Given the description of an element on the screen output the (x, y) to click on. 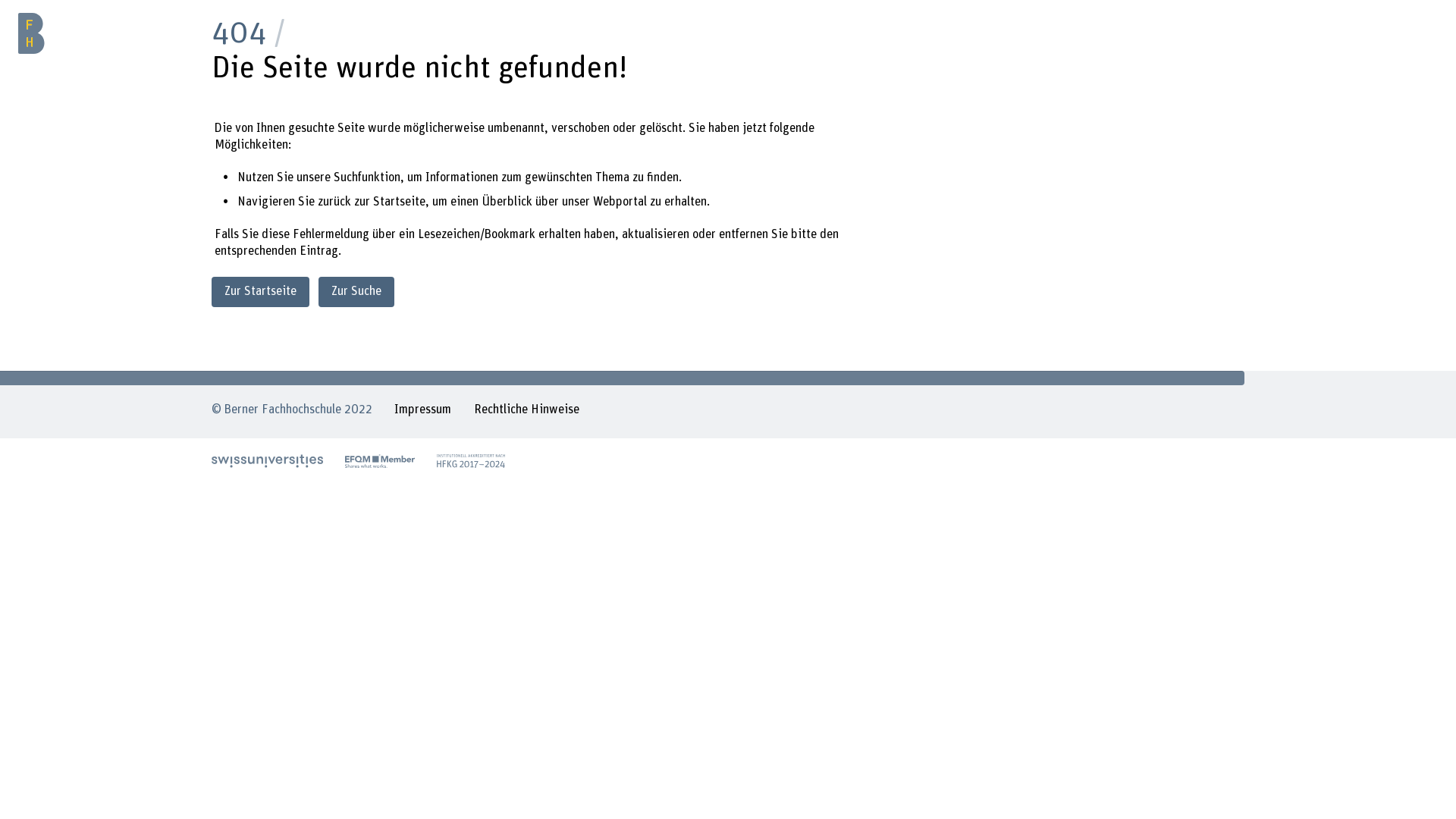
Startseite Element type: text (399, 201)
swissuniversities Element type: hover (267, 460)
Suchfunktion Element type: text (366, 177)
Impressum Element type: text (422, 411)
Zur Startseite Element type: text (260, 291)
Rechtliche Hinweise Element type: text (525, 411)
EFQM Member Element type: hover (379, 460)
Akkreditierung Element type: hover (470, 460)
Zur Suche Element type: text (356, 291)
